Given the description of an element on the screen output the (x, y) to click on. 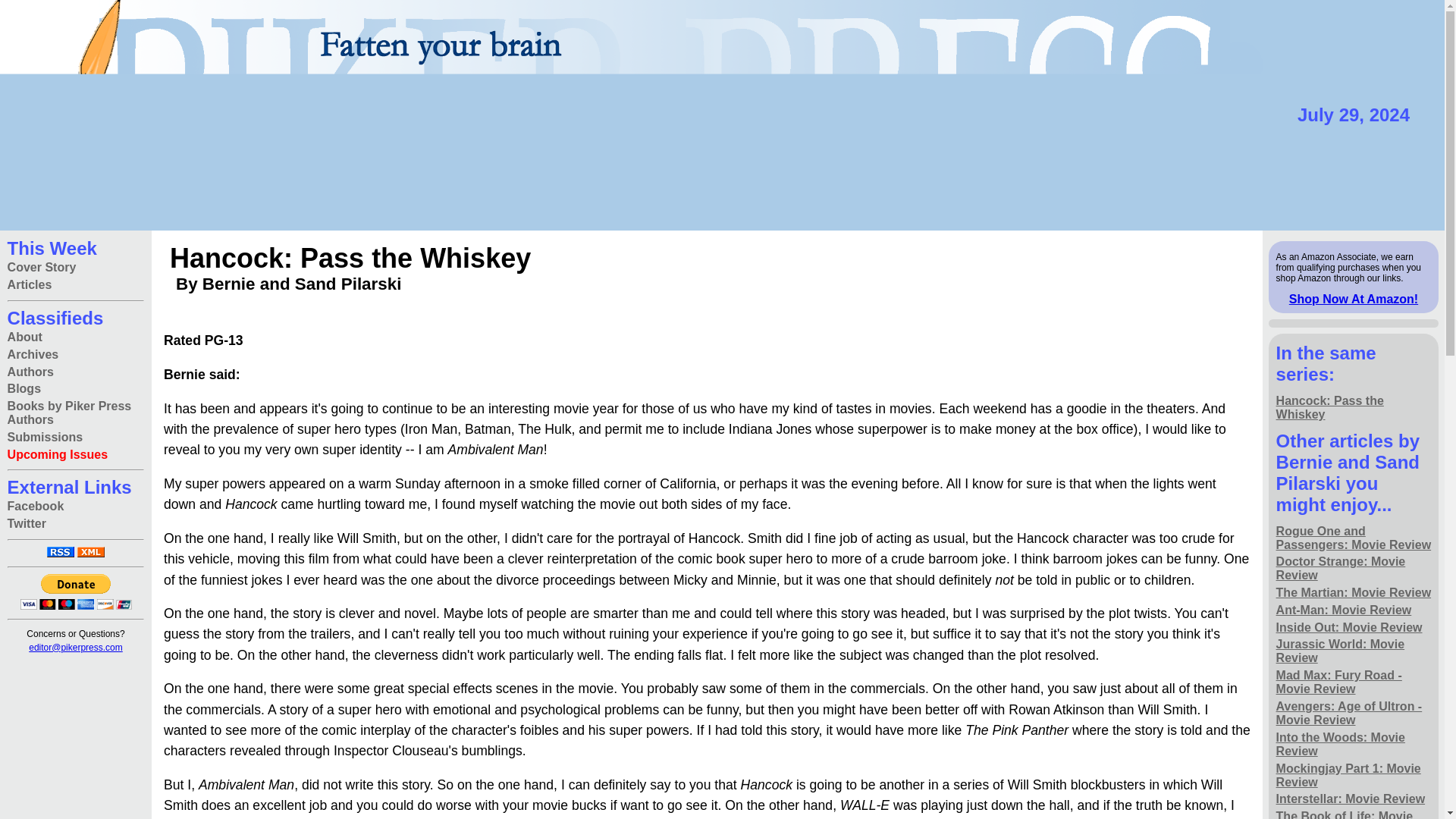
Rogue One and Passengers: Movie Review (1353, 537)
PayPal - The safer, easier way to pay online! (75, 591)
Facebook (35, 506)
Submissions (44, 437)
Shop Now At Amazon! (1353, 298)
Books by Piker Press Authors (75, 413)
Authors (30, 371)
Blogs (23, 389)
The Book of Life: Movie Review (1353, 813)
Articles (29, 285)
Avengers: Age of Ultron - Movie Review (1353, 713)
Inside Out: Movie Review (1349, 627)
Doctor Strange: Movie Review (1353, 568)
Jurassic World: Movie Review (1353, 651)
About (24, 337)
